Given the description of an element on the screen output the (x, y) to click on. 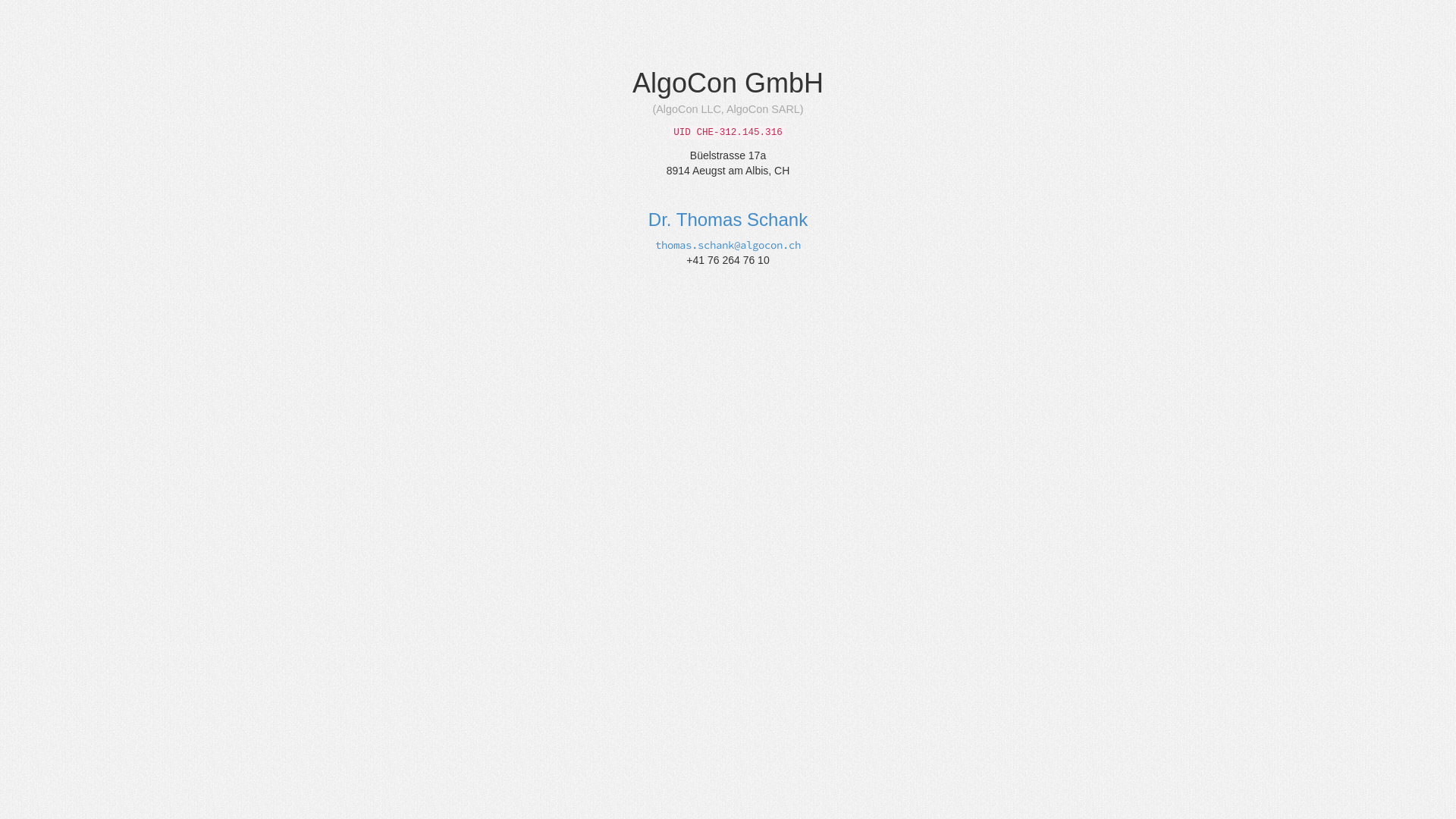
thomas.schank@algocon.ch Element type: text (727, 244)
Dr. Thomas Schank Element type: text (727, 219)
